Given the description of an element on the screen output the (x, y) to click on. 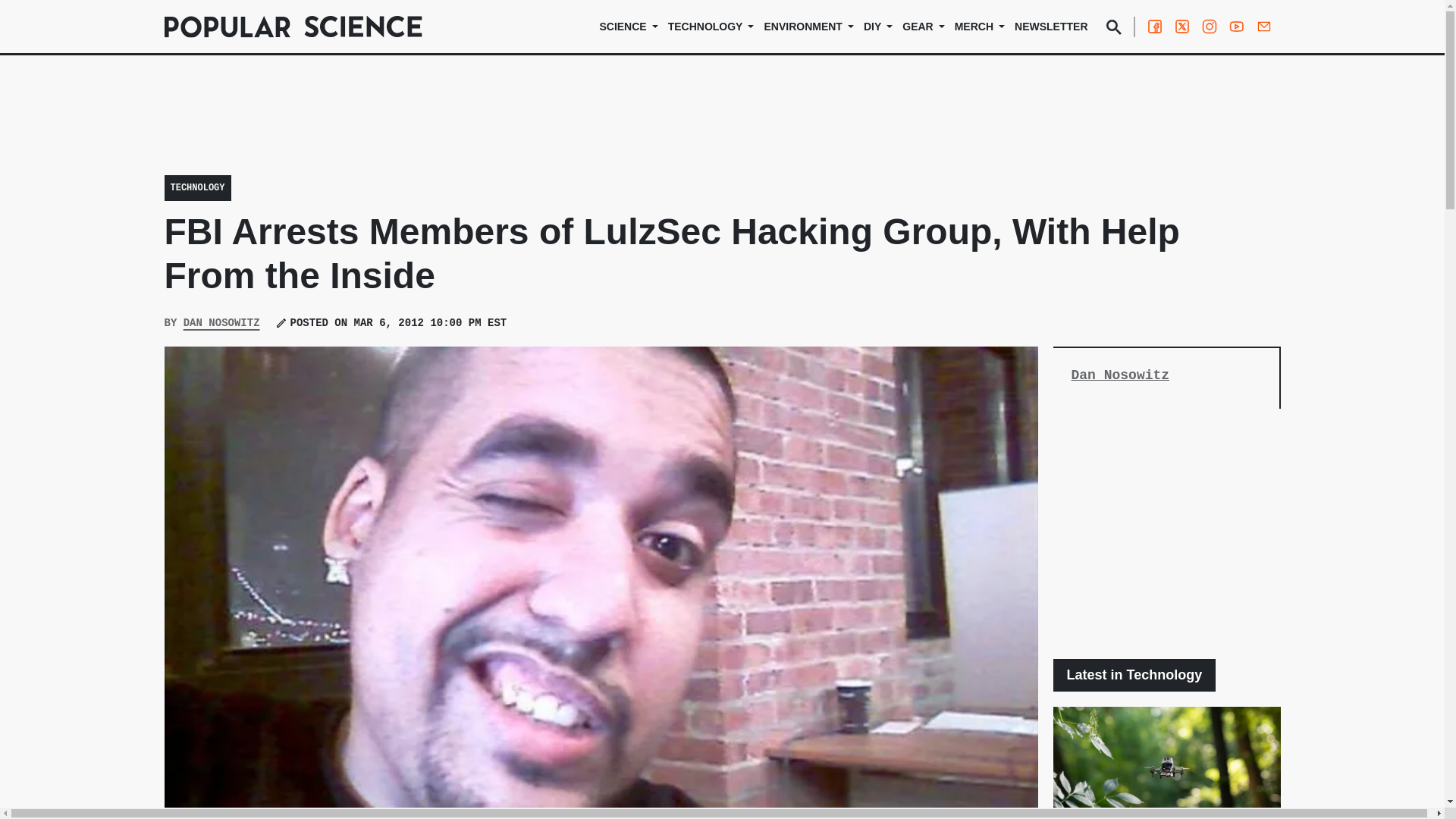
3rd party ad content (721, 125)
3rd party ad content (1165, 533)
